Given the description of an element on the screen output the (x, y) to click on. 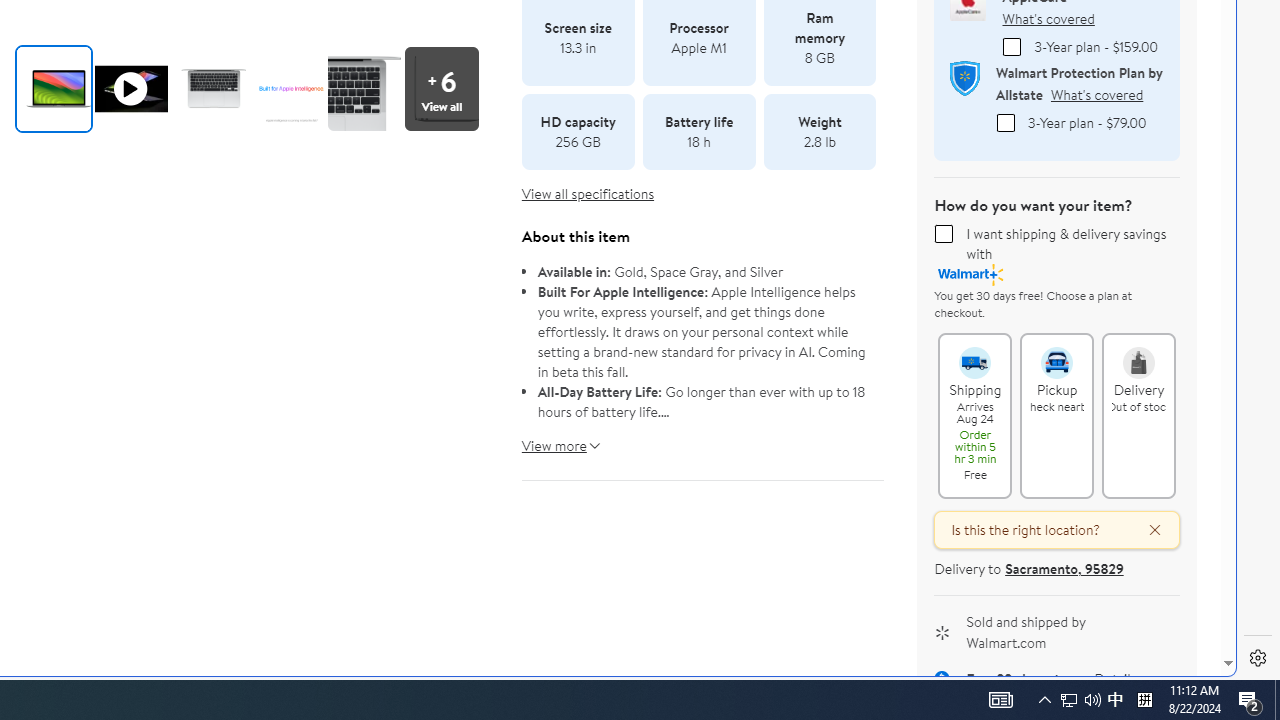
What's covered of Walmart Protection Plan by Allstate (1096, 94)
